Given the description of an element on the screen output the (x, y) to click on. 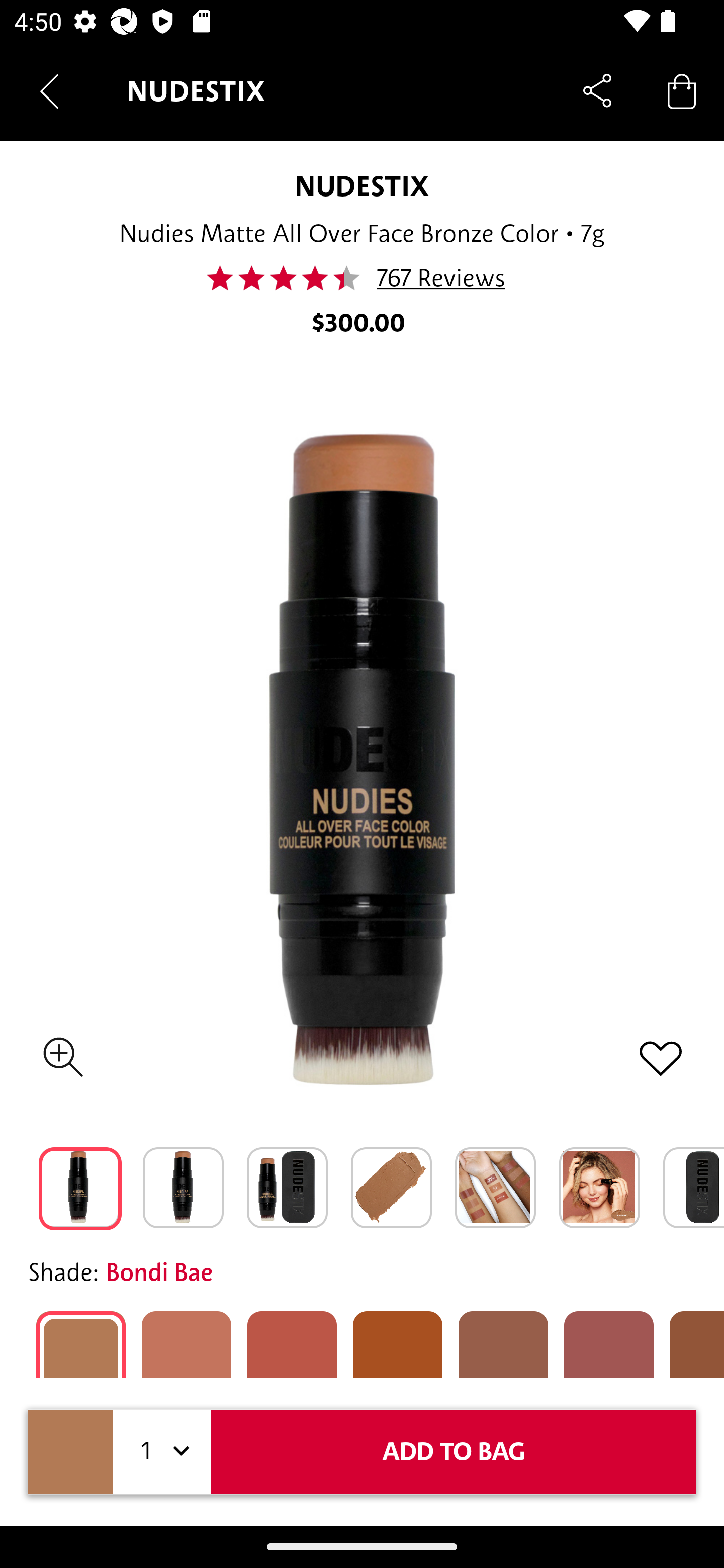
Navigate up (49, 91)
Share (597, 90)
Bag (681, 90)
NUDESTIX (361, 186)
44.0 767 Reviews (361, 278)
1 (161, 1451)
ADD TO BAG (453, 1451)
